Given the description of an element on the screen output the (x, y) to click on. 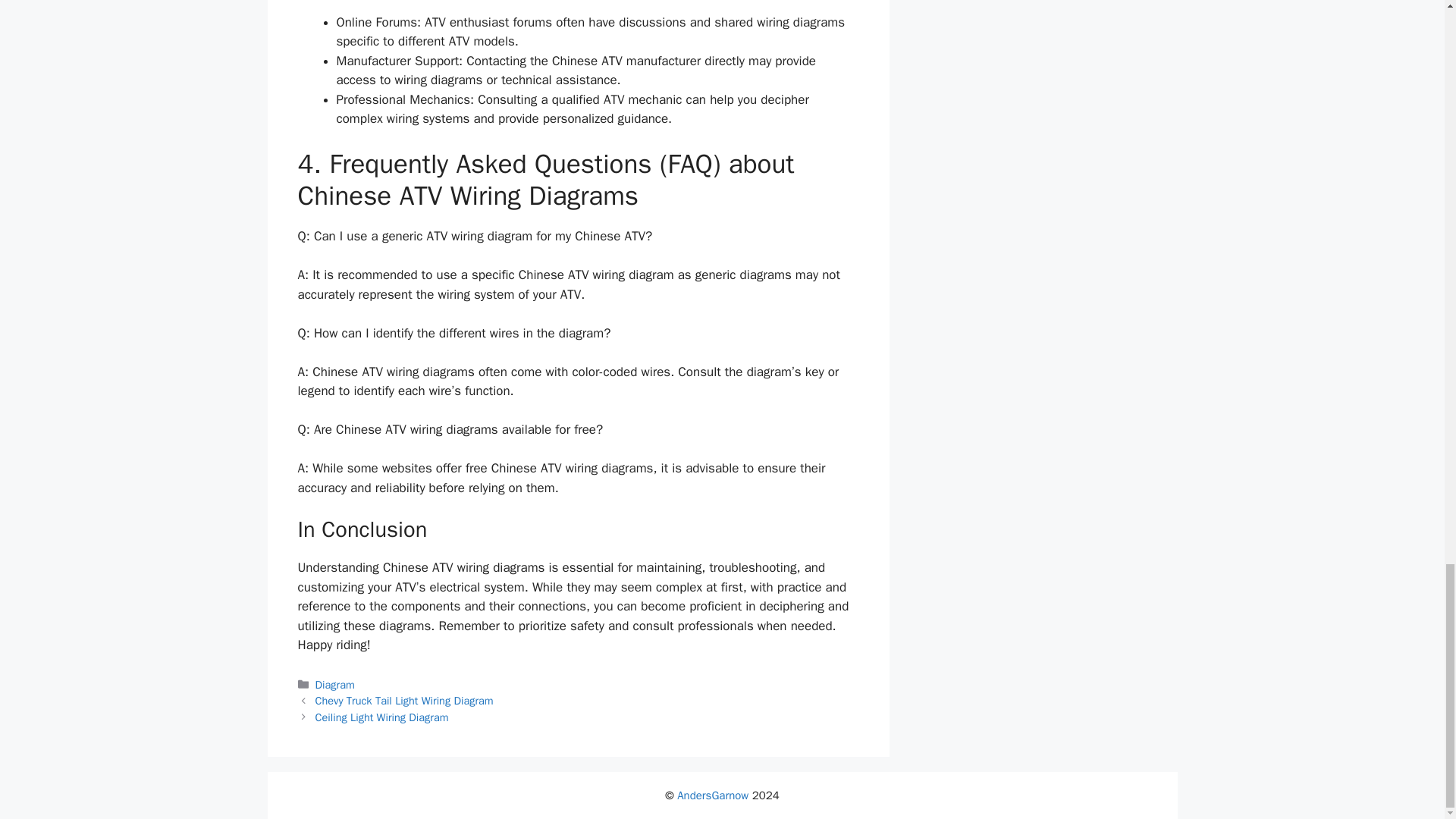
Chevy Truck Tail Light Wiring Diagram (404, 700)
Diagram (335, 684)
Ceiling Light Wiring Diagram (381, 716)
